Given the description of an element on the screen output the (x, y) to click on. 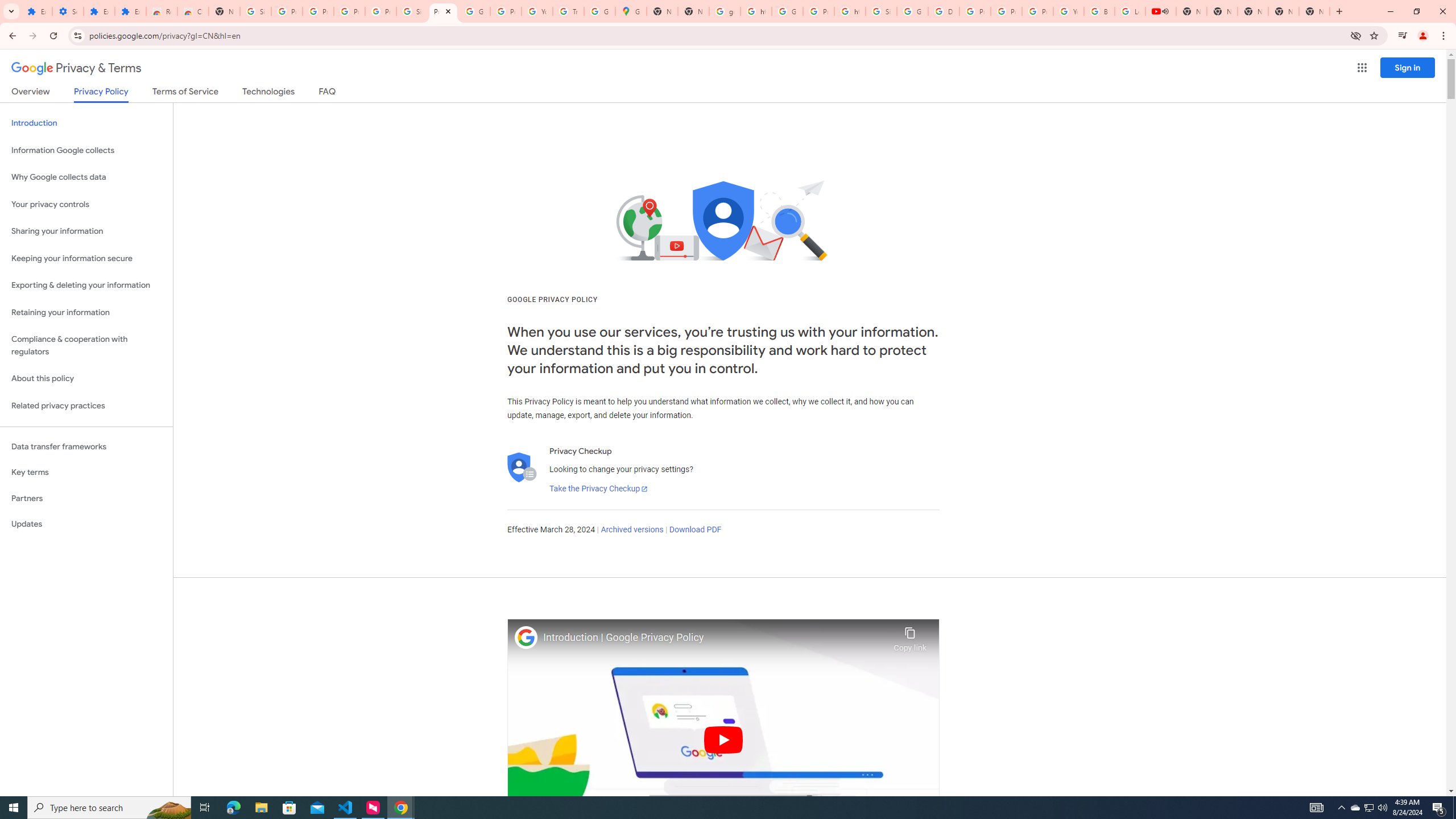
Retaining your information (86, 312)
New Tab (223, 11)
Information Google collects (86, 150)
Chrome Web Store - Themes (192, 11)
Keeping your information secure (86, 258)
Why Google collects data (86, 176)
